Given the description of an element on the screen output the (x, y) to click on. 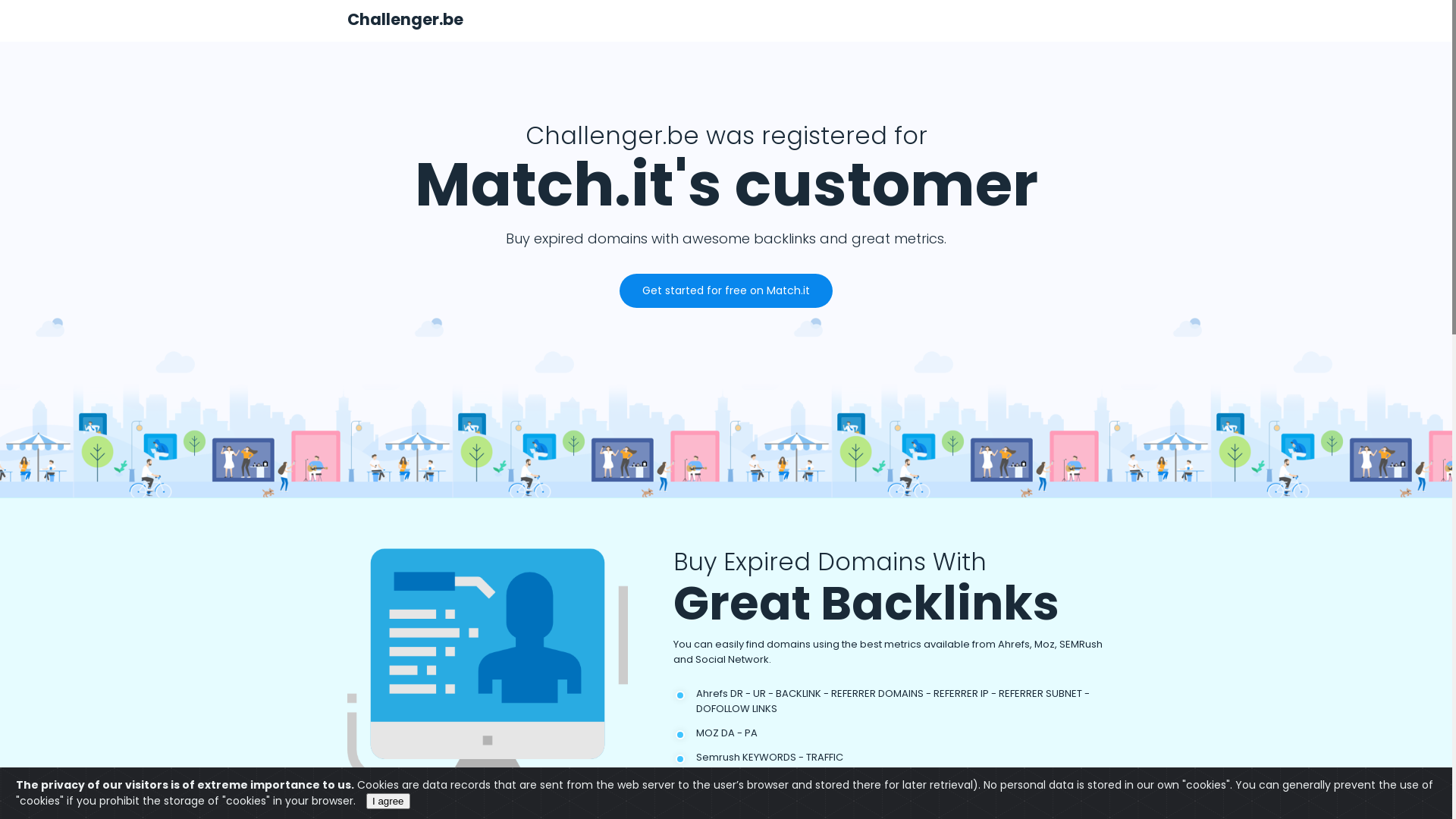
I agree Element type: text (388, 801)
Get started for free on Match.it Element type: text (725, 290)
